Given the description of an element on the screen output the (x, y) to click on. 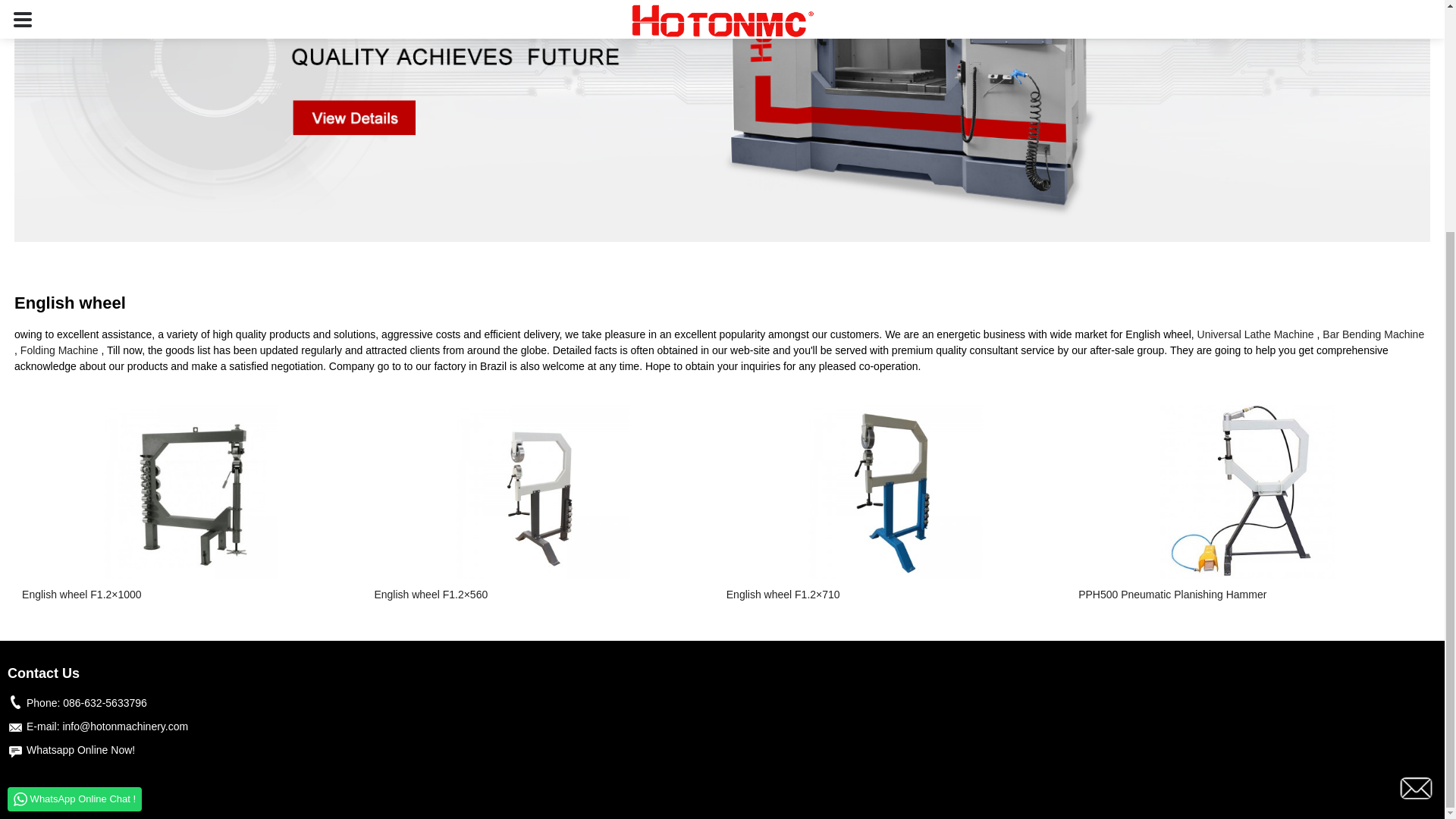
Universal Lathe Machine (1255, 334)
PPH500 Pneumatic Planishing Hammer (1246, 594)
Universal Lathe Machine (1255, 334)
Folding Machine (59, 349)
Bar Bending Machine (1372, 334)
086-632-5633796 (104, 702)
Bar Bending Machine (1372, 334)
Folding Machine (59, 349)
